Given the description of an element on the screen output the (x, y) to click on. 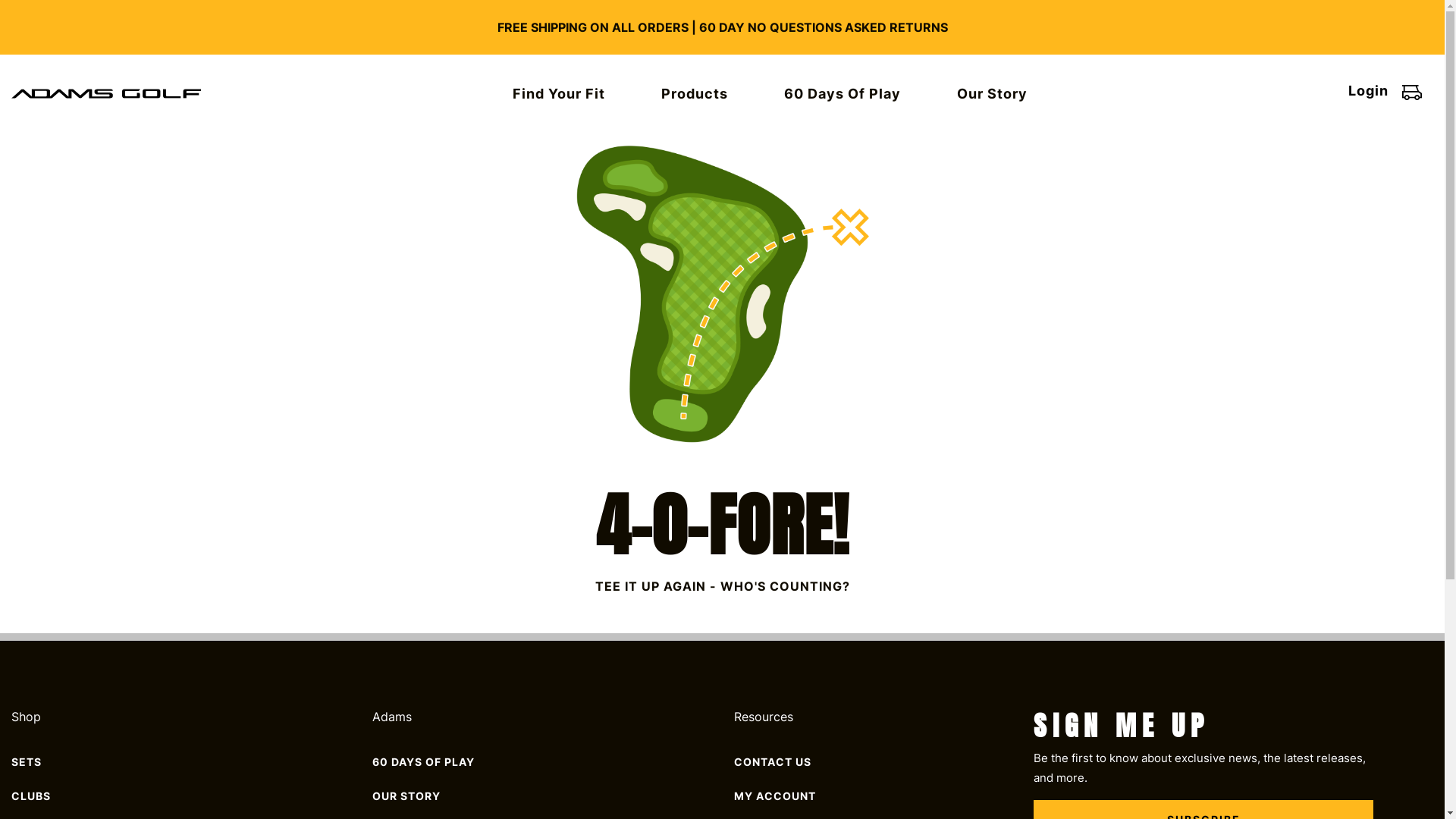
MY ACCOUNT Element type: text (774, 795)
60 DAYS OF PLAY Element type: text (423, 761)
Commerce Cloud Storefront Reference Architecture Home Element type: hover (105, 93)
Find Your Fit Element type: text (558, 93)
Login Element type: text (1368, 90)
OUR STORY Element type: text (406, 795)
SETS Element type: text (26, 761)
CONTACT US Element type: text (772, 761)
Products Element type: text (693, 93)
60 Days Of Play Element type: text (841, 93)
CLUBS Element type: text (30, 795)
Our Story Element type: text (991, 93)
Cart 0 Items Element type: hover (1411, 92)
